Given the description of an element on the screen output the (x, y) to click on. 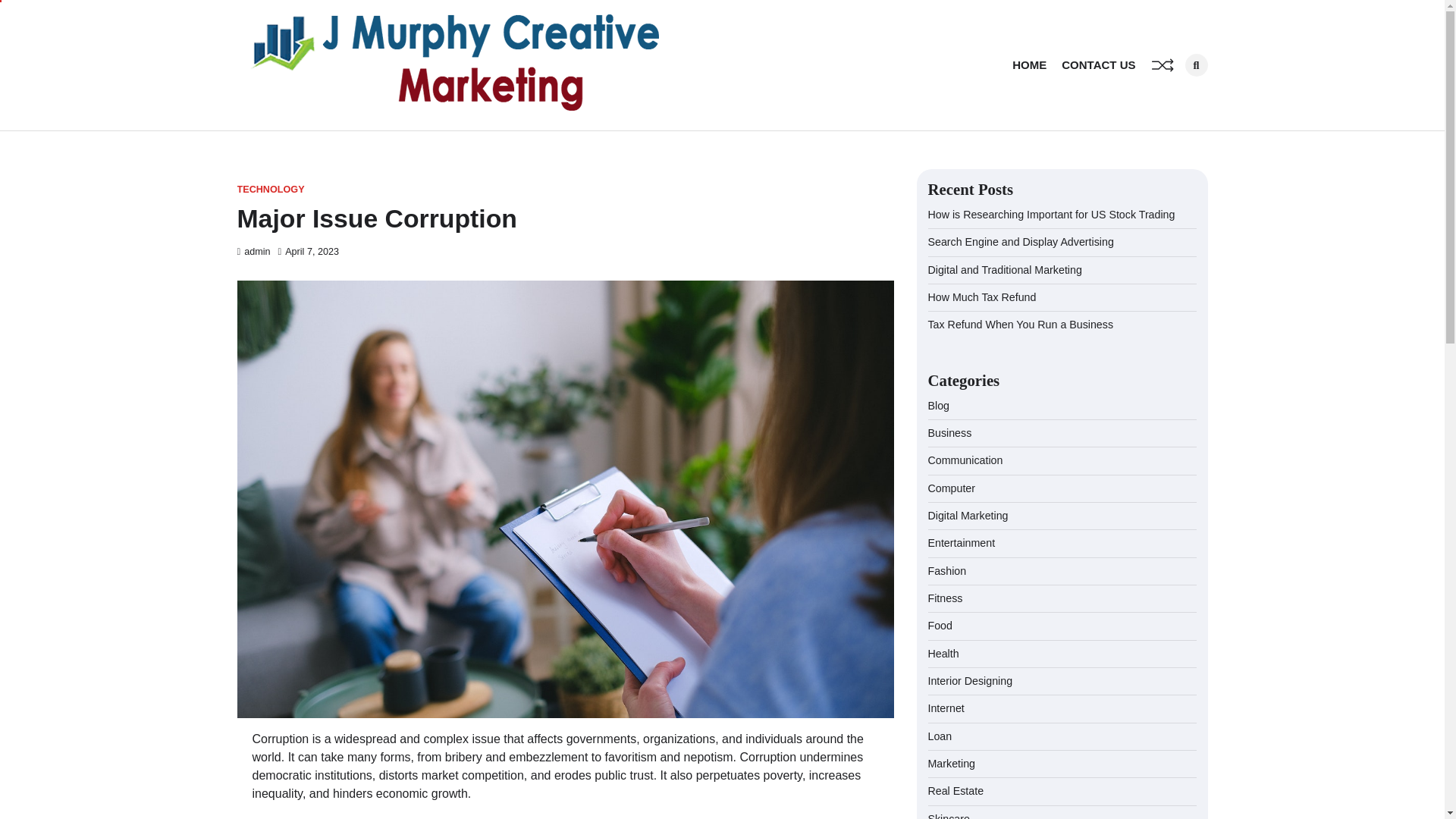
Digital and Traditional Marketing (1004, 269)
CONTACT US (1098, 65)
HOME (1028, 65)
April 7, 2023 (308, 251)
Search Engine and Display Advertising (1020, 241)
Entertainment (961, 542)
Blog (939, 405)
Business (950, 432)
Search (1170, 97)
Search (1196, 65)
